Given the description of an element on the screen output the (x, y) to click on. 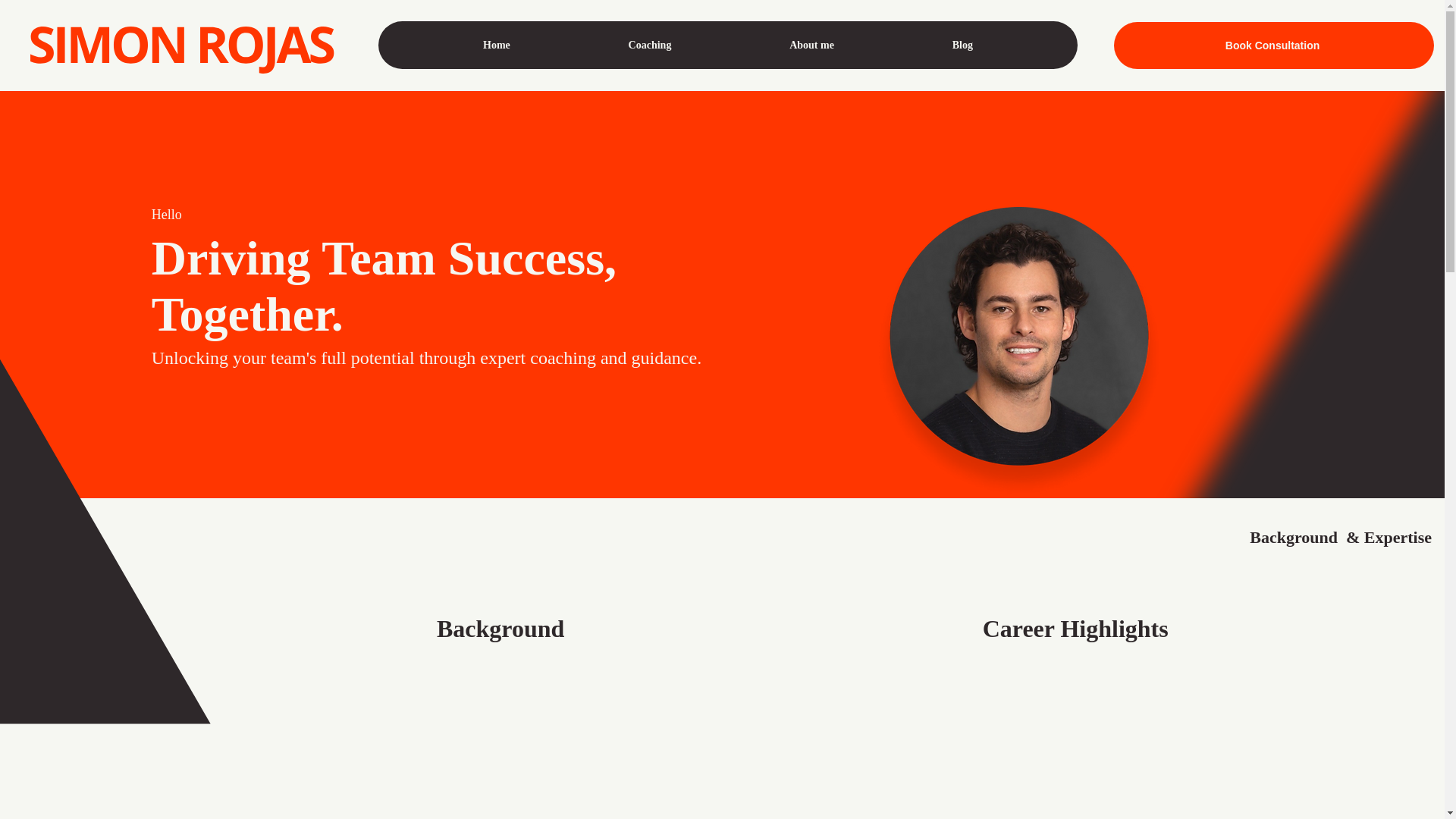
Home (496, 45)
Book Consultation (1273, 45)
Blog (962, 45)
About me (811, 45)
Coaching (650, 45)
